Given the description of an element on the screen output the (x, y) to click on. 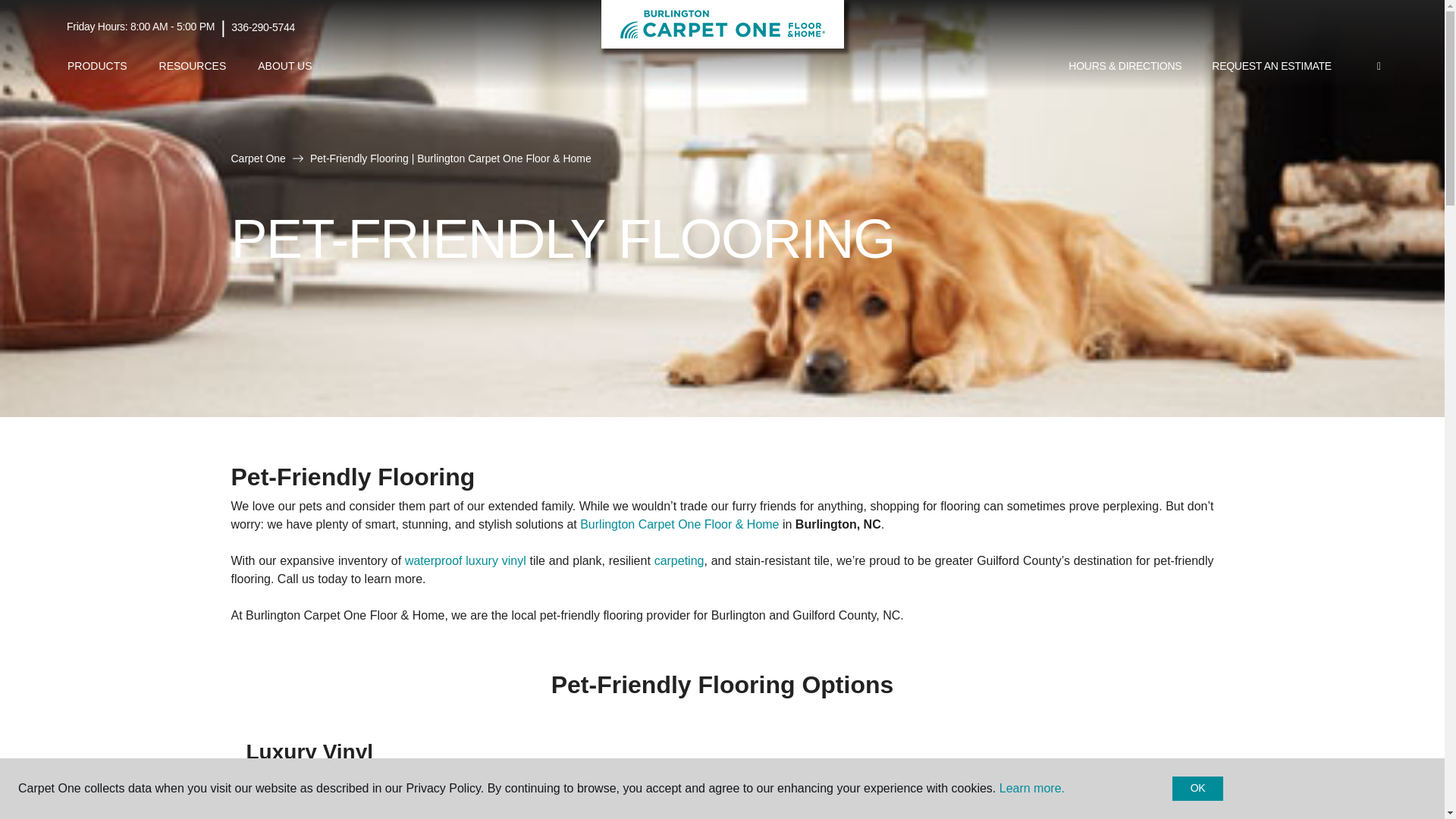
RESOURCES (193, 66)
336-290-5744 (263, 27)
PRODUCTS (97, 66)
REQUEST AN ESTIMATE (1271, 66)
ABOUT US (284, 66)
